Given the description of an element on the screen output the (x, y) to click on. 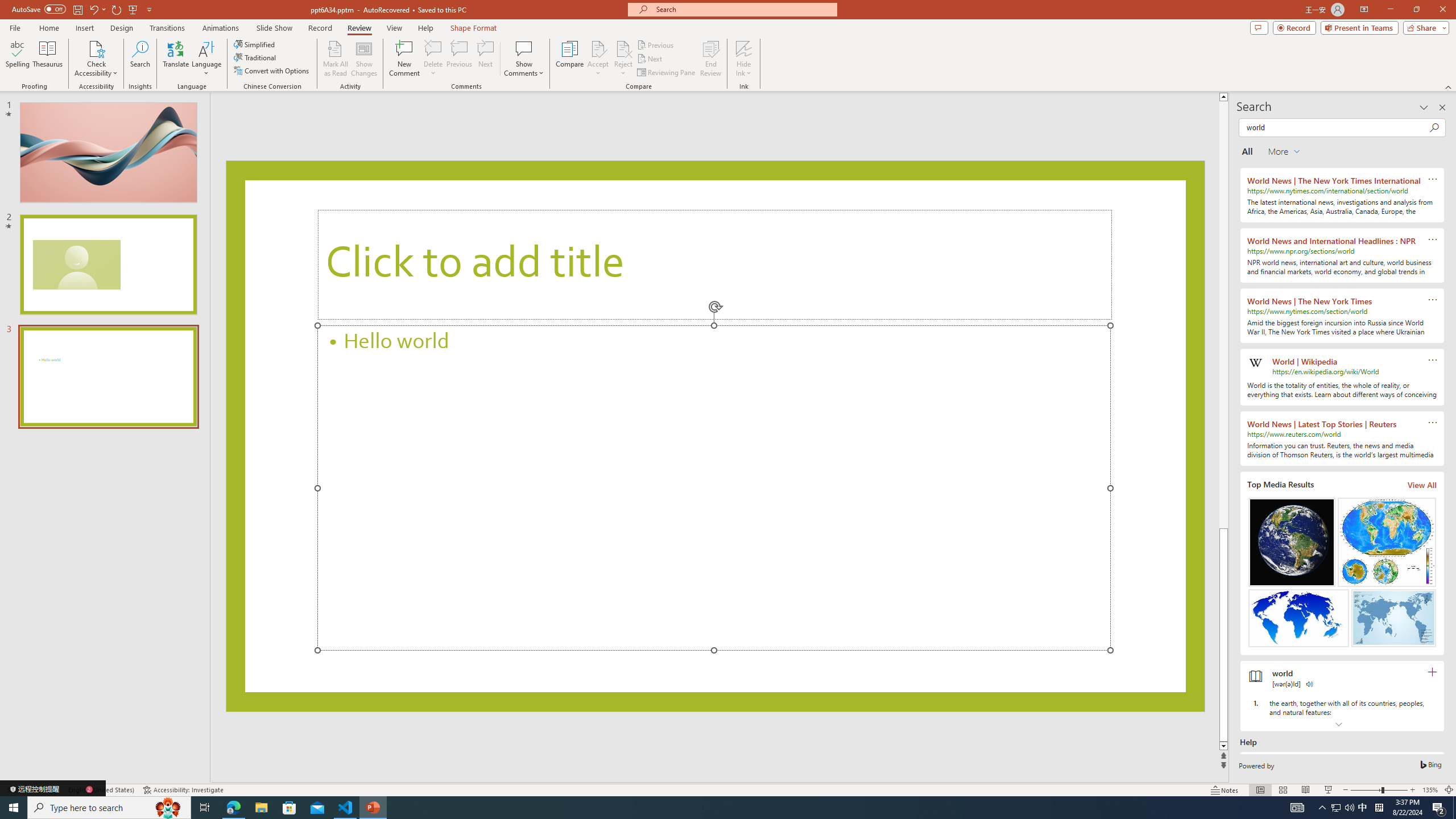
Reject Change (622, 48)
Language (206, 58)
Previous (655, 44)
